Given the description of an element on the screen output the (x, y) to click on. 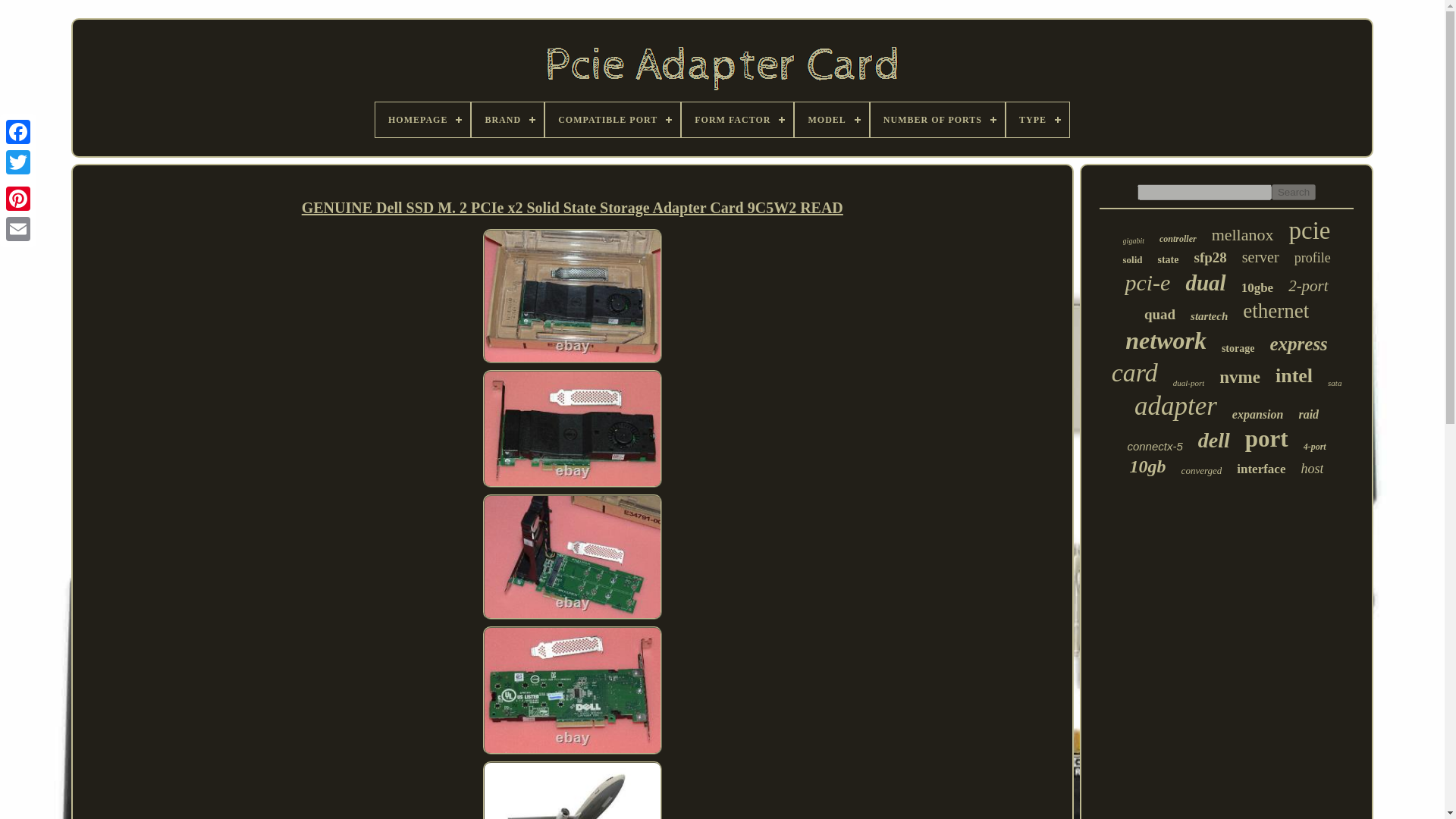
BRAND (507, 119)
HOMEPAGE (422, 119)
COMPATIBLE PORT (611, 119)
Search (1293, 191)
